Given the description of an element on the screen output the (x, y) to click on. 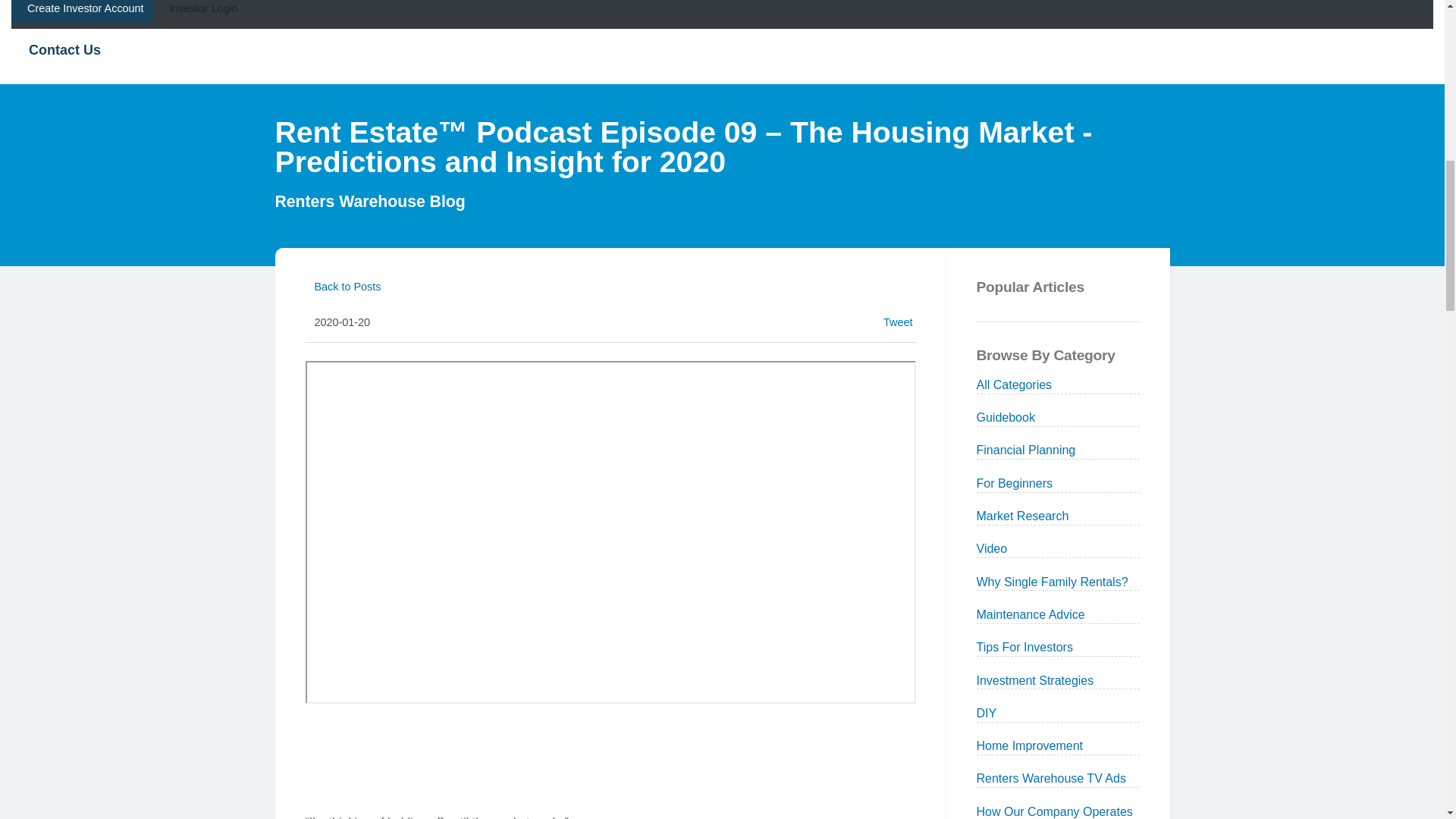
Contact Us (721, 50)
View Blog Archive: Why Single Family Rentals? (1052, 581)
View Blog Archive: Investment Strategies (1035, 679)
Log In (200, 14)
View Blog Archive: For Beginners (1014, 482)
View Blog Archive: Guidebook (1005, 417)
Create Investor Account (82, 11)
Investor Login (200, 14)
View Blog Archive: Market Research (1022, 515)
View Blog Archive: Financial Planning (1025, 449)
View Blog Archive: Tips For Investors (1024, 646)
View Blog Archive: Video (991, 548)
Create Account (82, 11)
View Blog Archive: Maintenance Advice (1030, 614)
